Given the description of an element on the screen output the (x, y) to click on. 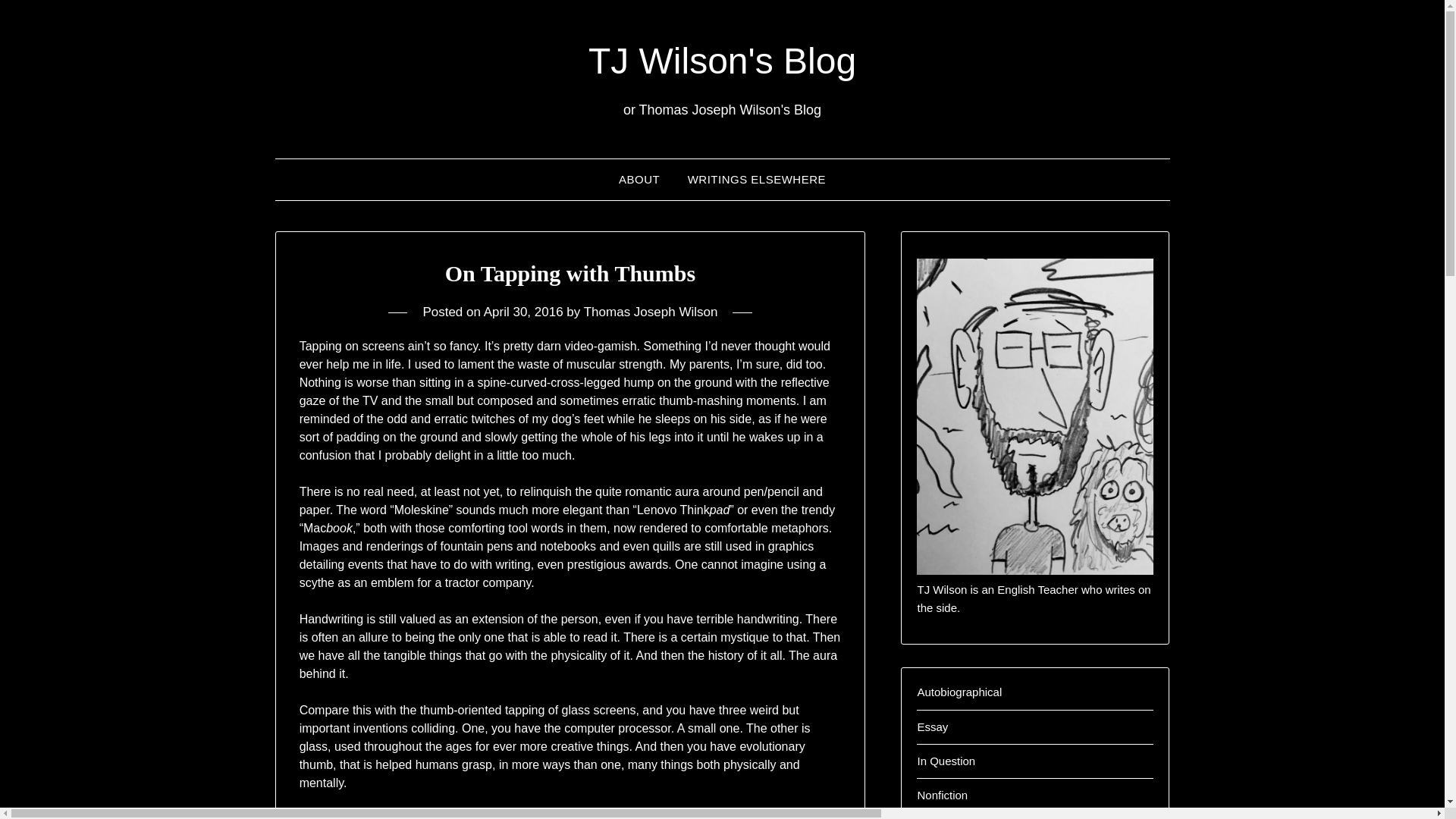
Thomas Joseph Wilson (650, 311)
ABOUT (639, 178)
TJ Wilson's Blog (722, 60)
April 30, 2016 (523, 311)
Essay (932, 726)
Autobiographical (959, 691)
Nonfiction (942, 794)
WRITINGS ELSEWHERE (756, 178)
In Question (946, 760)
